Given the description of an element on the screen output the (x, y) to click on. 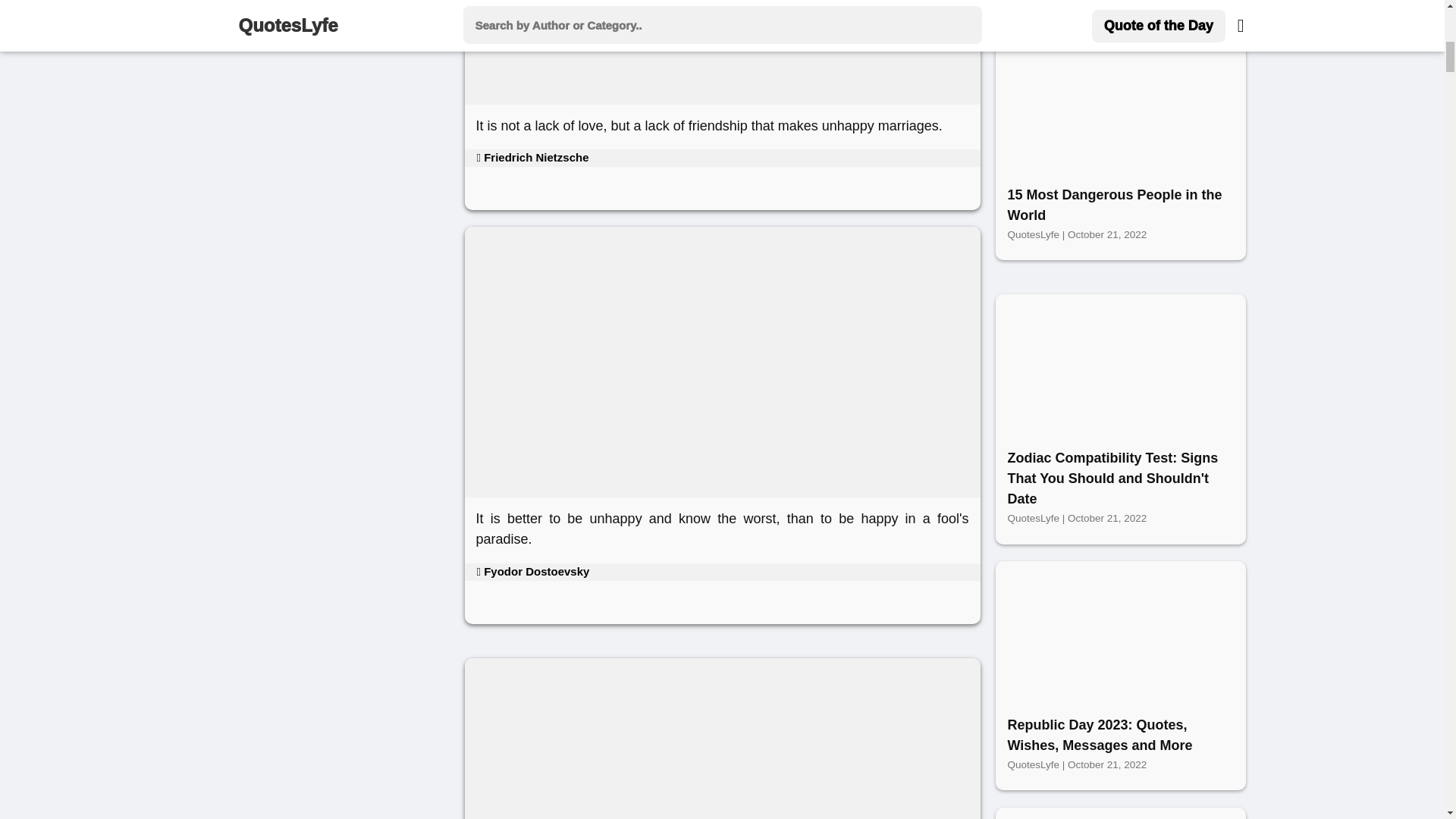
Fyodor Dostoevsky (532, 571)
Friedrich Nietzsche (532, 156)
View Friedrich Nietzsche Quotes (532, 156)
View Fyodor Dostoevsky Quotes (532, 571)
